Given the description of an element on the screen output the (x, y) to click on. 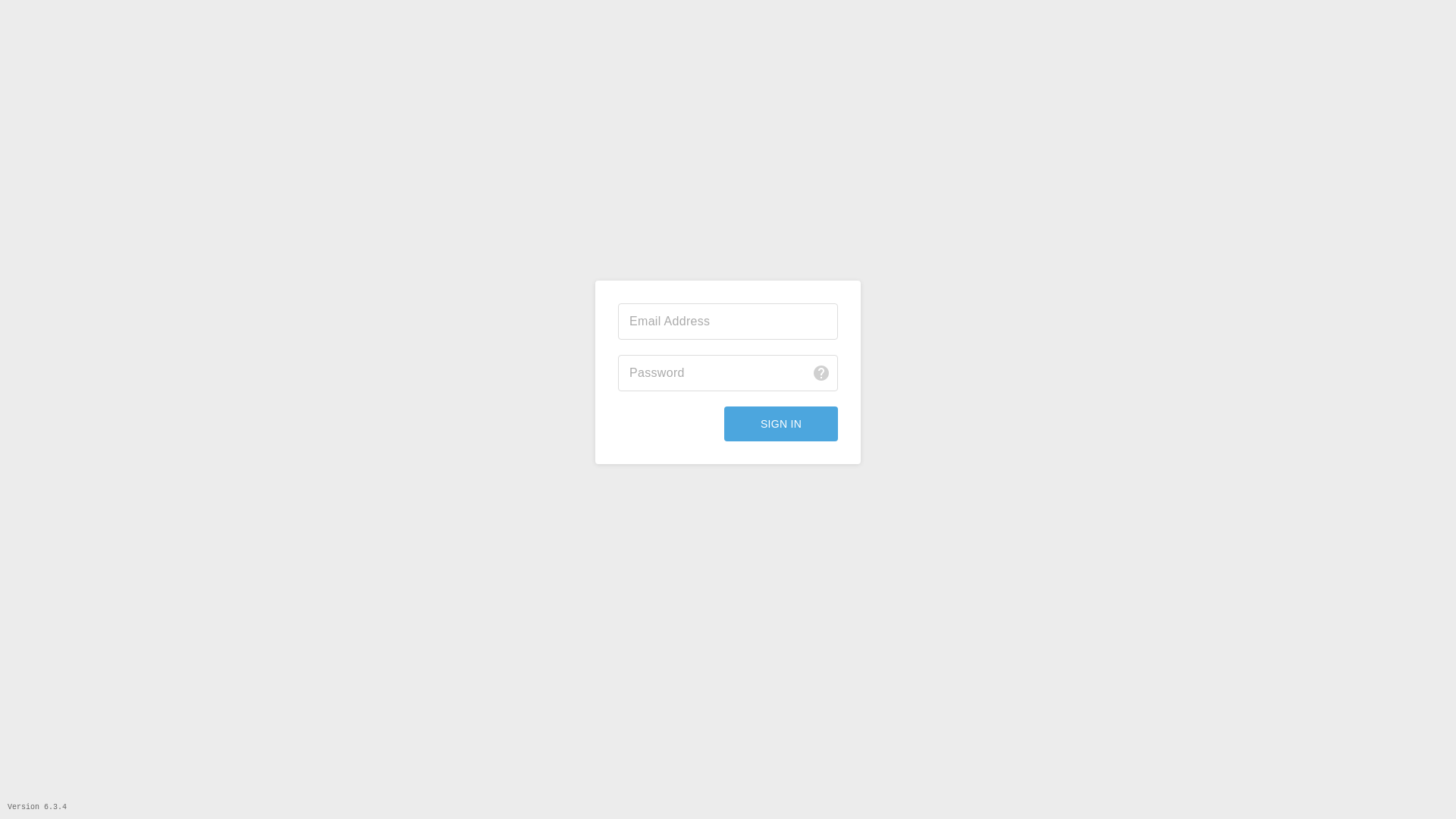
SIGN IN Element type: text (780, 423)
